Given the description of an element on the screen output the (x, y) to click on. 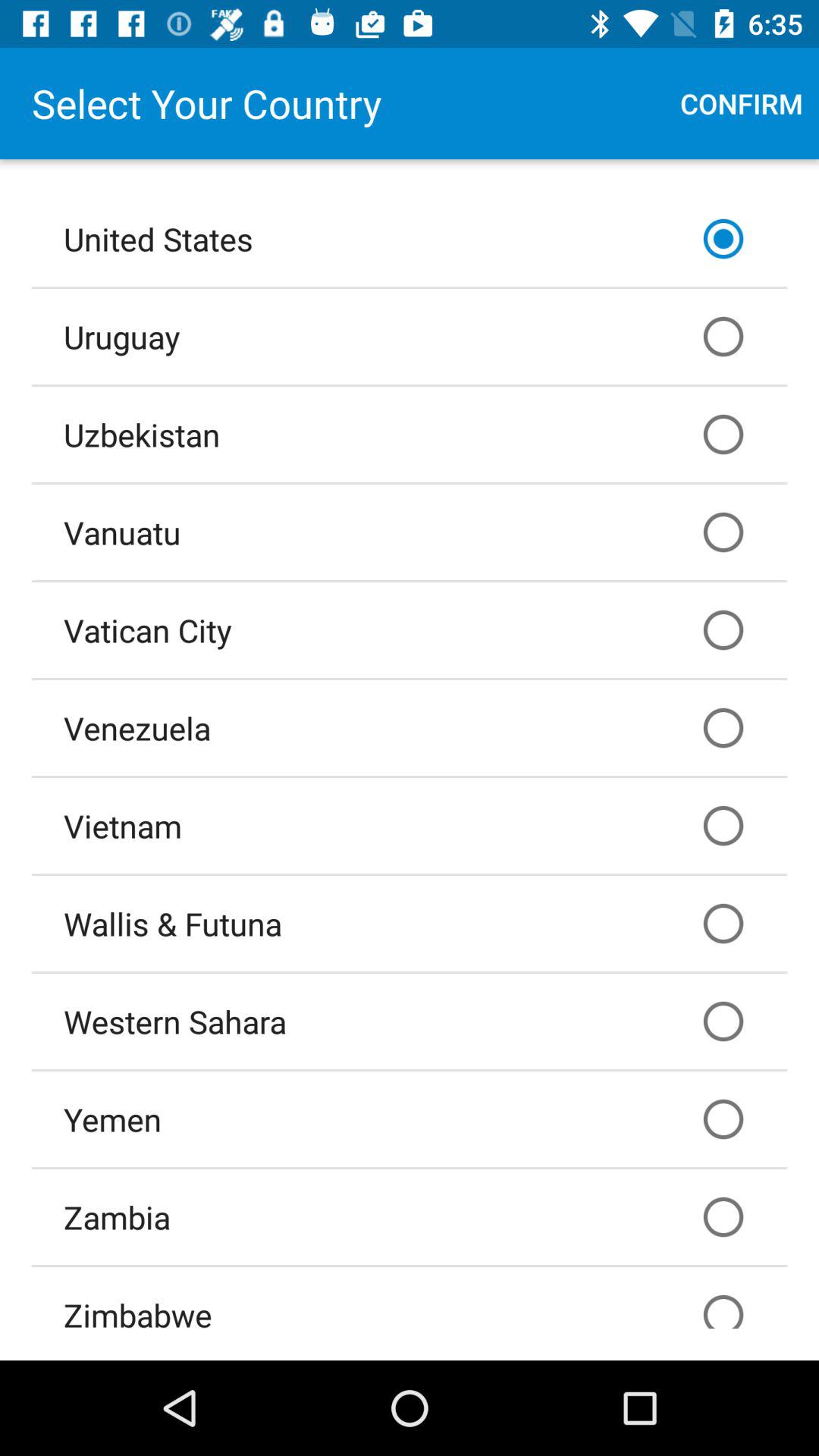
tap vatican city item (409, 629)
